Given the description of an element on the screen output the (x, y) to click on. 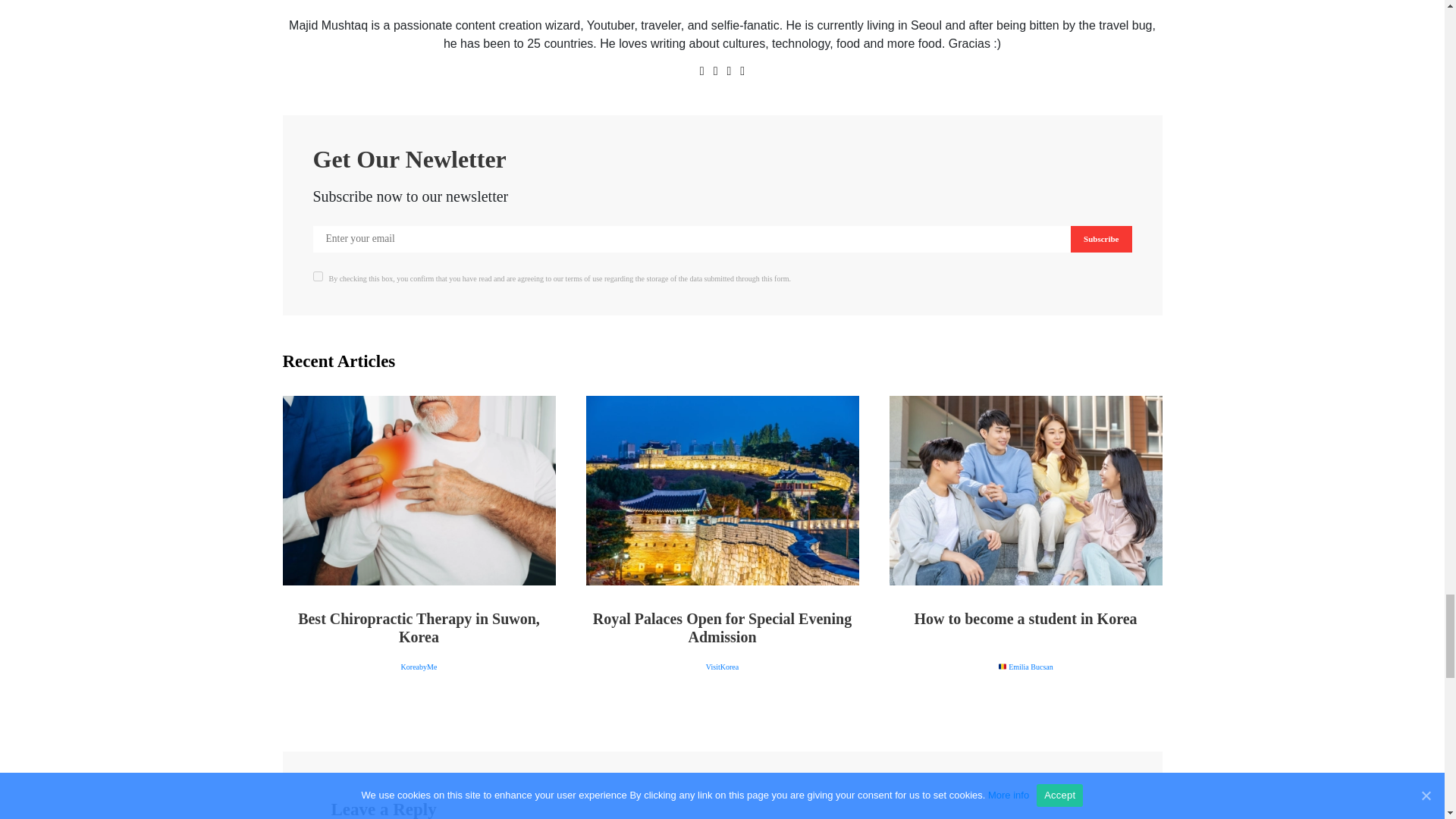
on (317, 276)
View all posts by KoreabyMe (419, 666)
View all posts by VisitKorea (722, 666)
